Given the description of an element on the screen output the (x, y) to click on. 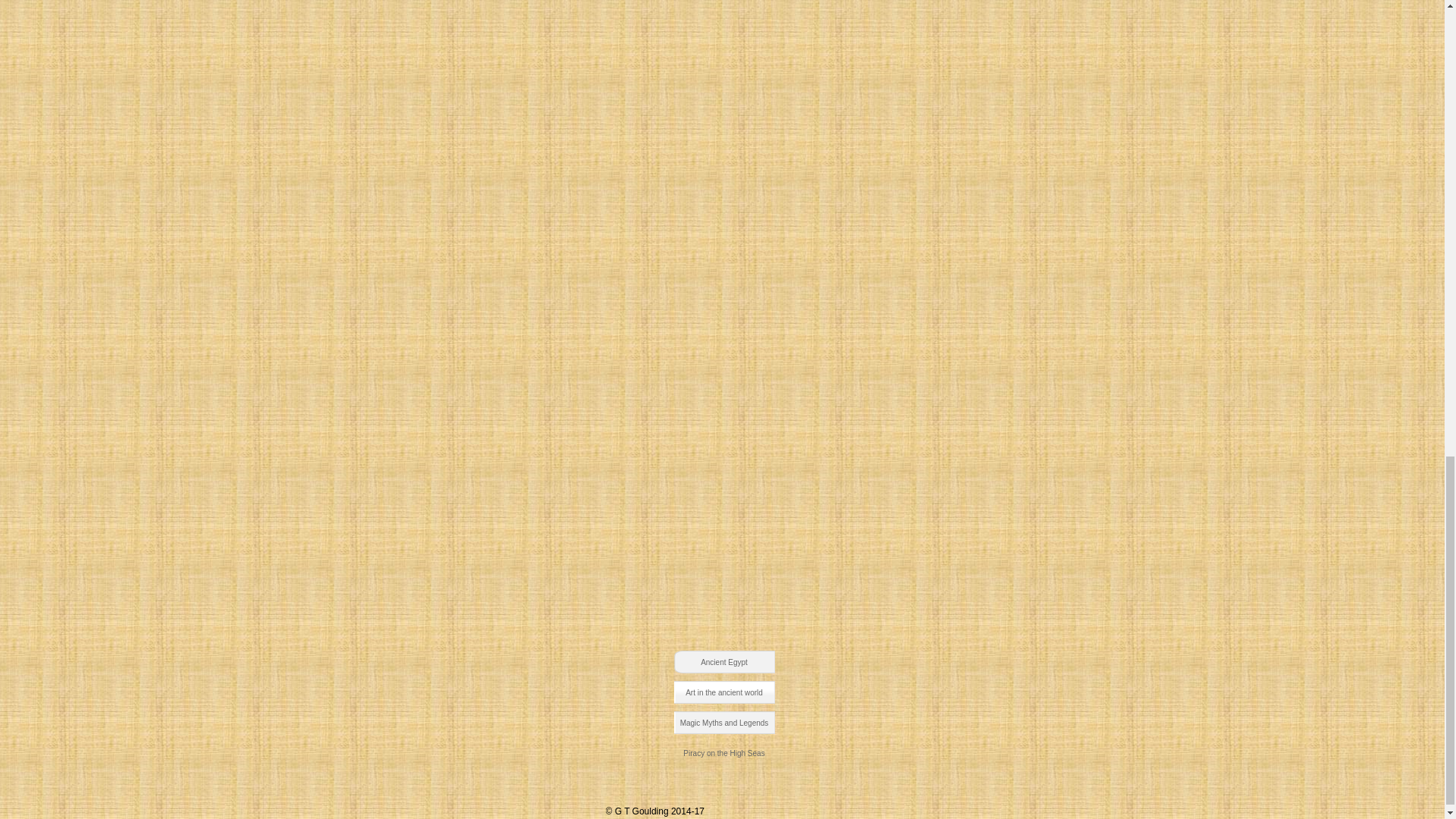
Ancient Egypt (723, 661)
Magic Myths and Legends (723, 722)
Art in the ancient world (723, 691)
Piracy on the High Seas (723, 753)
